Given the description of an element on the screen output the (x, y) to click on. 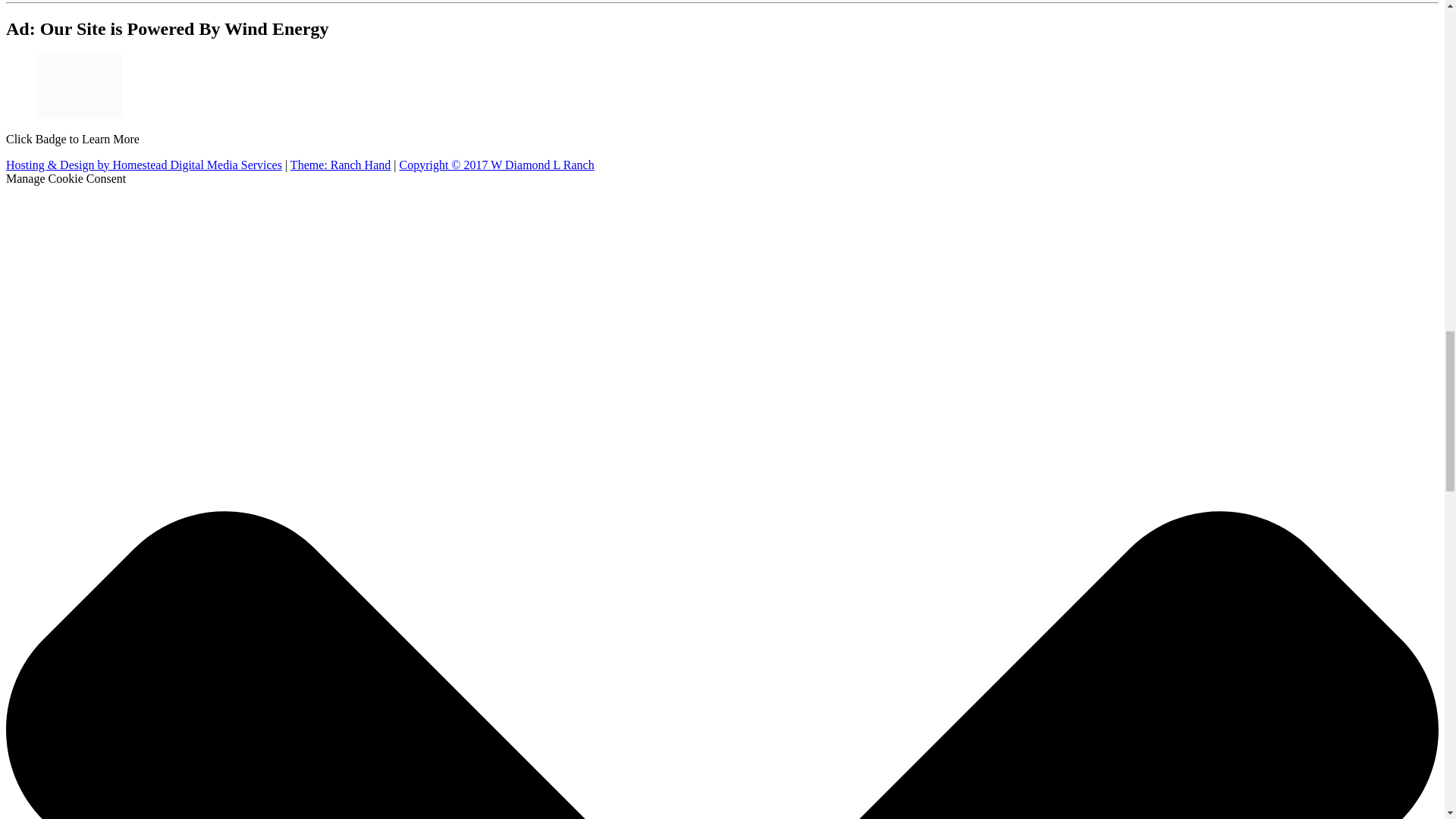
Hosting, Design, and Marketing Solutions for Small Business (143, 164)
Theme: Ranch Hand (339, 164)
A Custom WordPress Theme by Homestead Digital Media Services (339, 164)
